Given the description of an element on the screen output the (x, y) to click on. 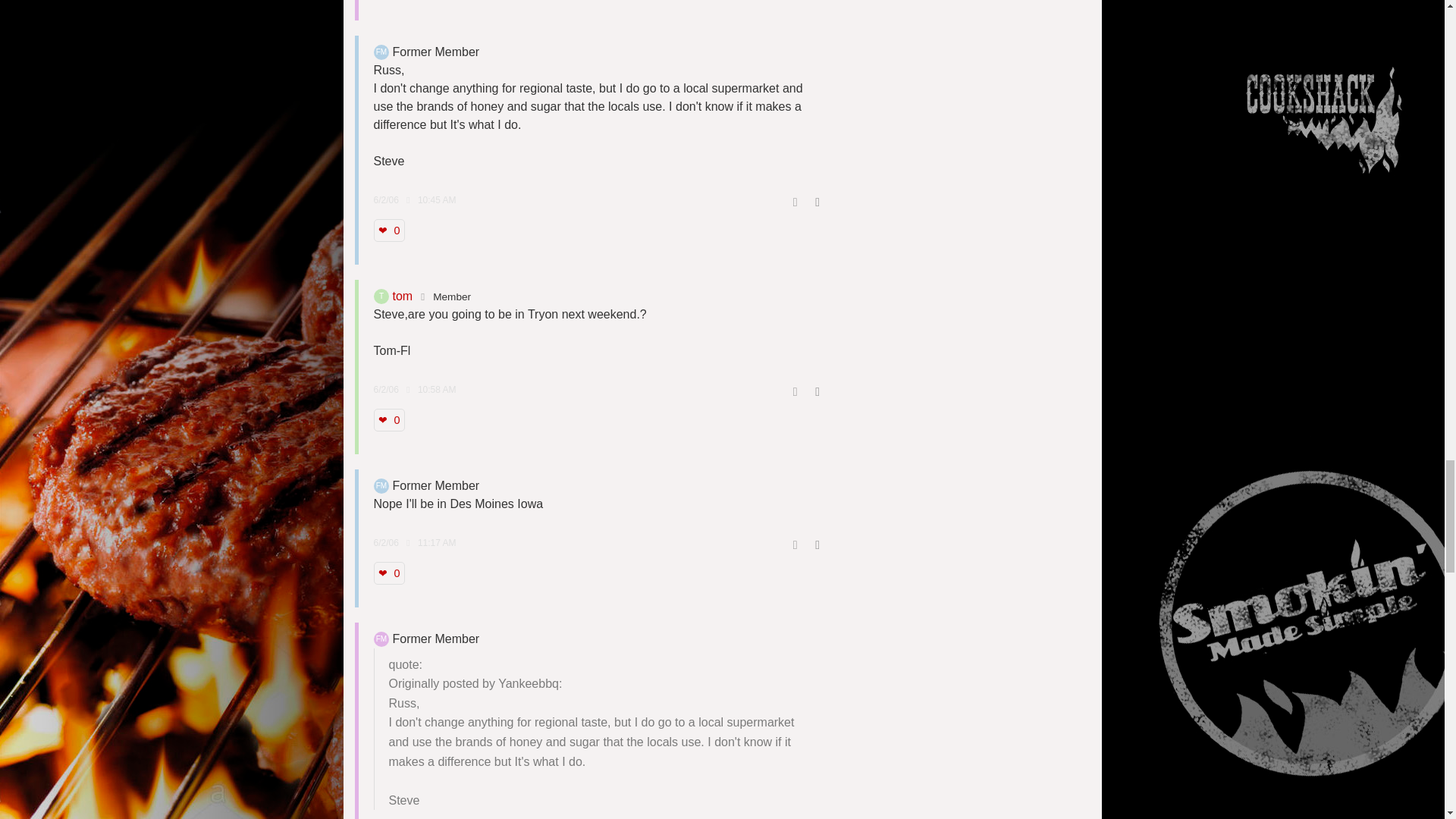
FM (380, 639)
T (380, 296)
FM (380, 485)
FM (380, 52)
